Given the description of an element on the screen output the (x, y) to click on. 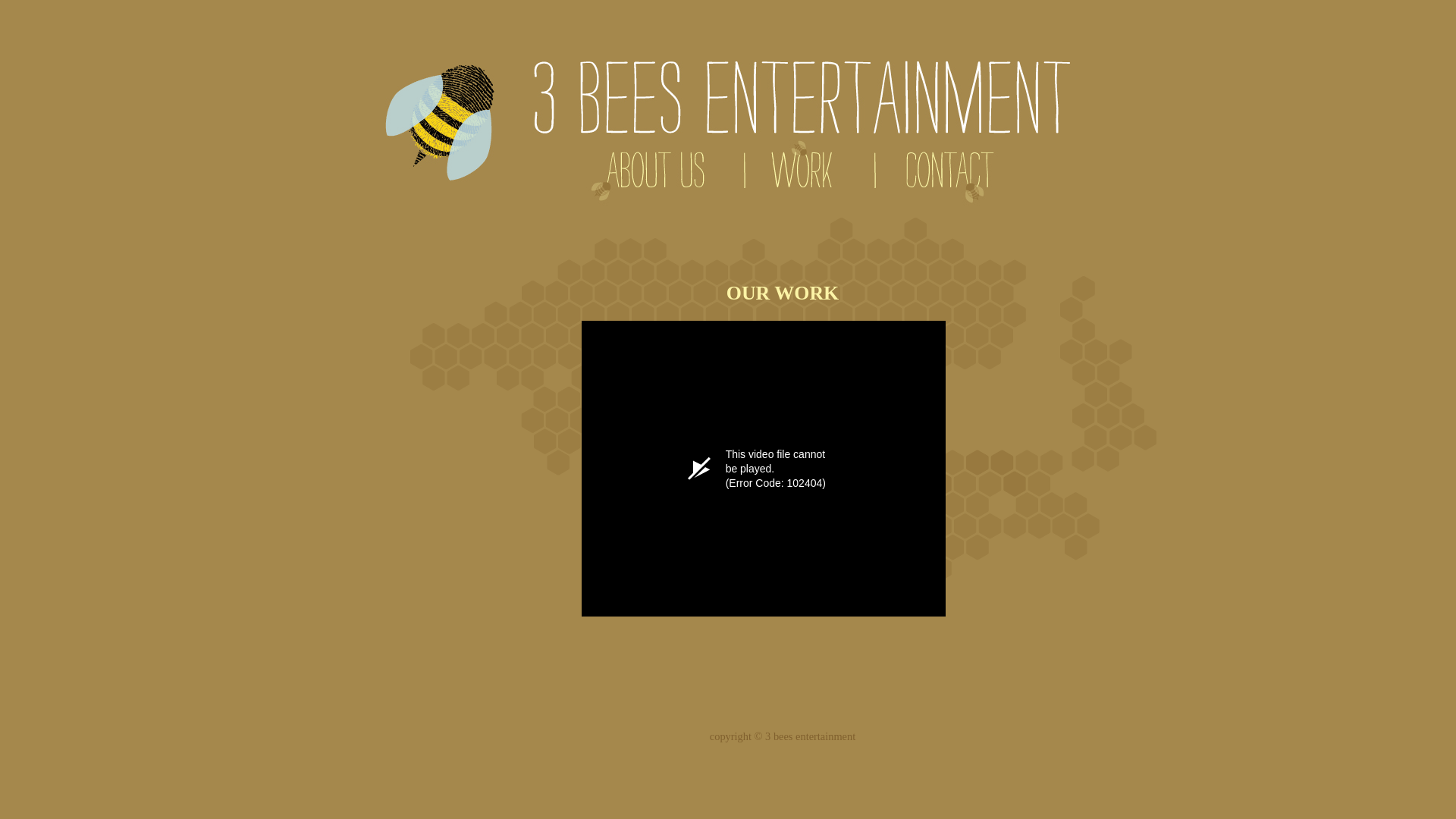
Work Element type: text (803, 175)
About Element type: text (646, 175)
Contact Element type: text (948, 175)
